Given the description of an element on the screen output the (x, y) to click on. 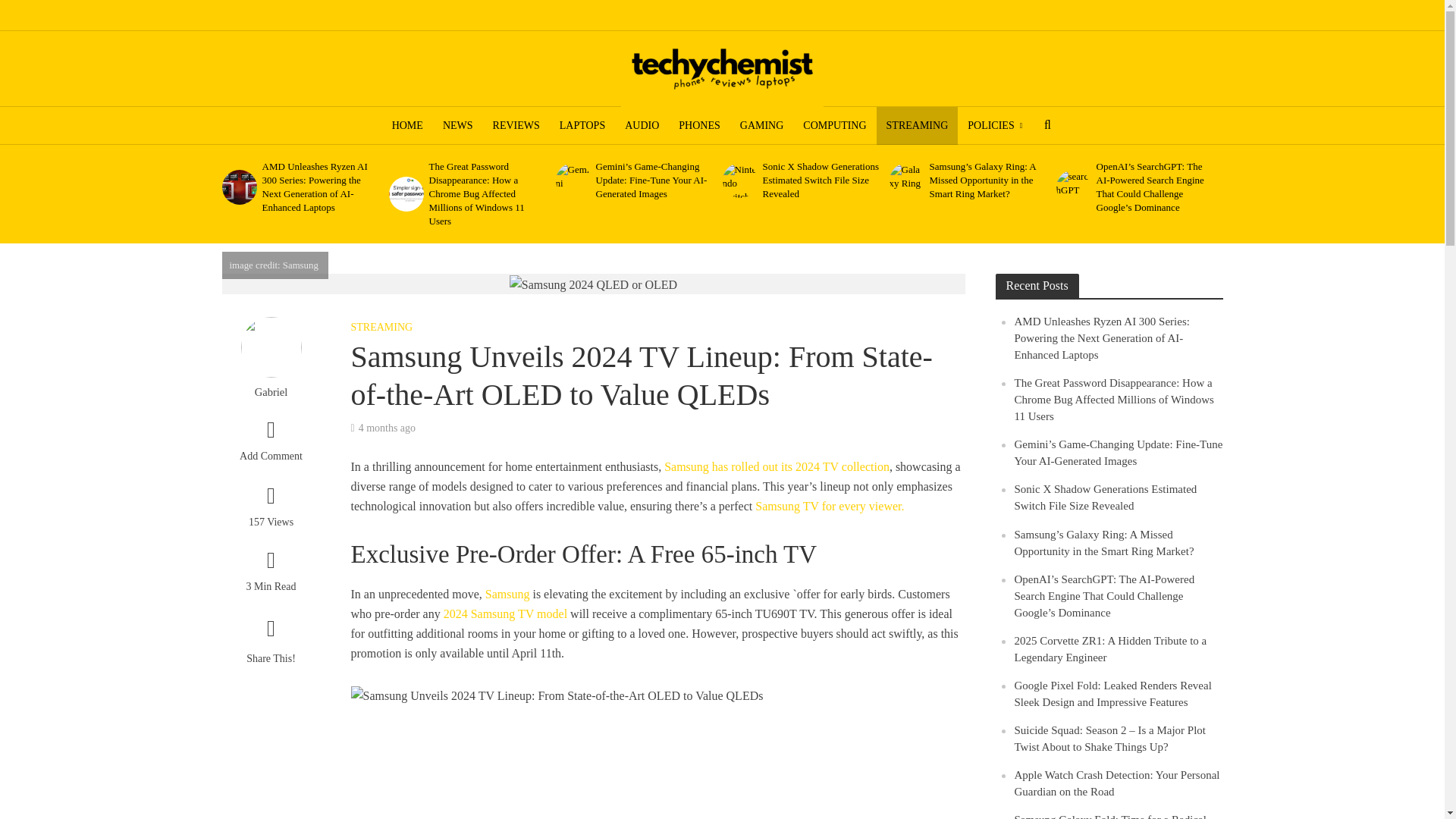
PHONES (698, 125)
HOME (406, 125)
AUDIO (641, 125)
POLICIES (995, 125)
REVIEWS (516, 125)
NEWS (457, 125)
